Given the description of an element on the screen output the (x, y) to click on. 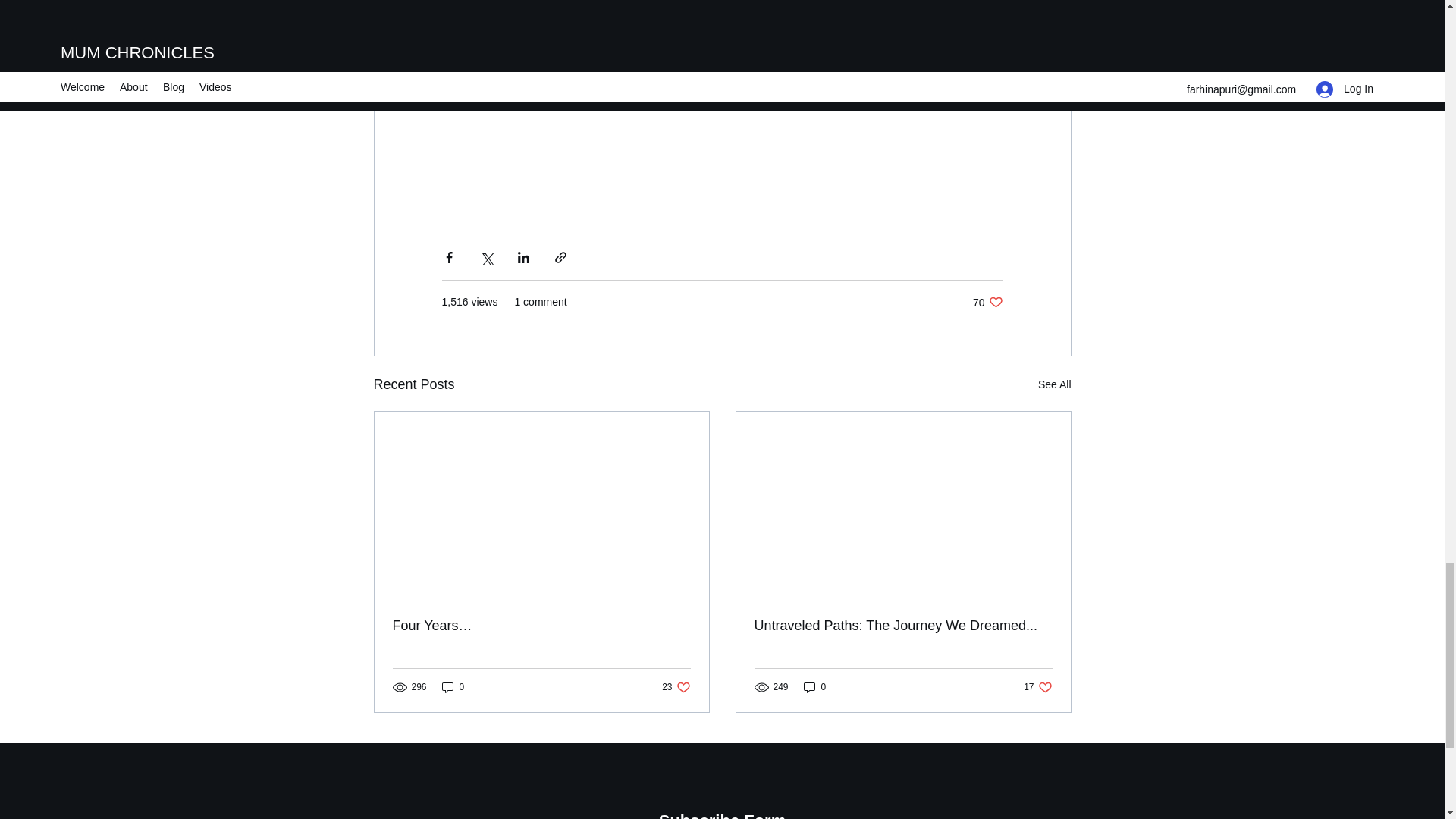
See All (1054, 384)
0 (453, 687)
0 (676, 687)
Untraveled Paths: The Journey We Dreamed... (815, 687)
